Given the description of an element on the screen output the (x, y) to click on. 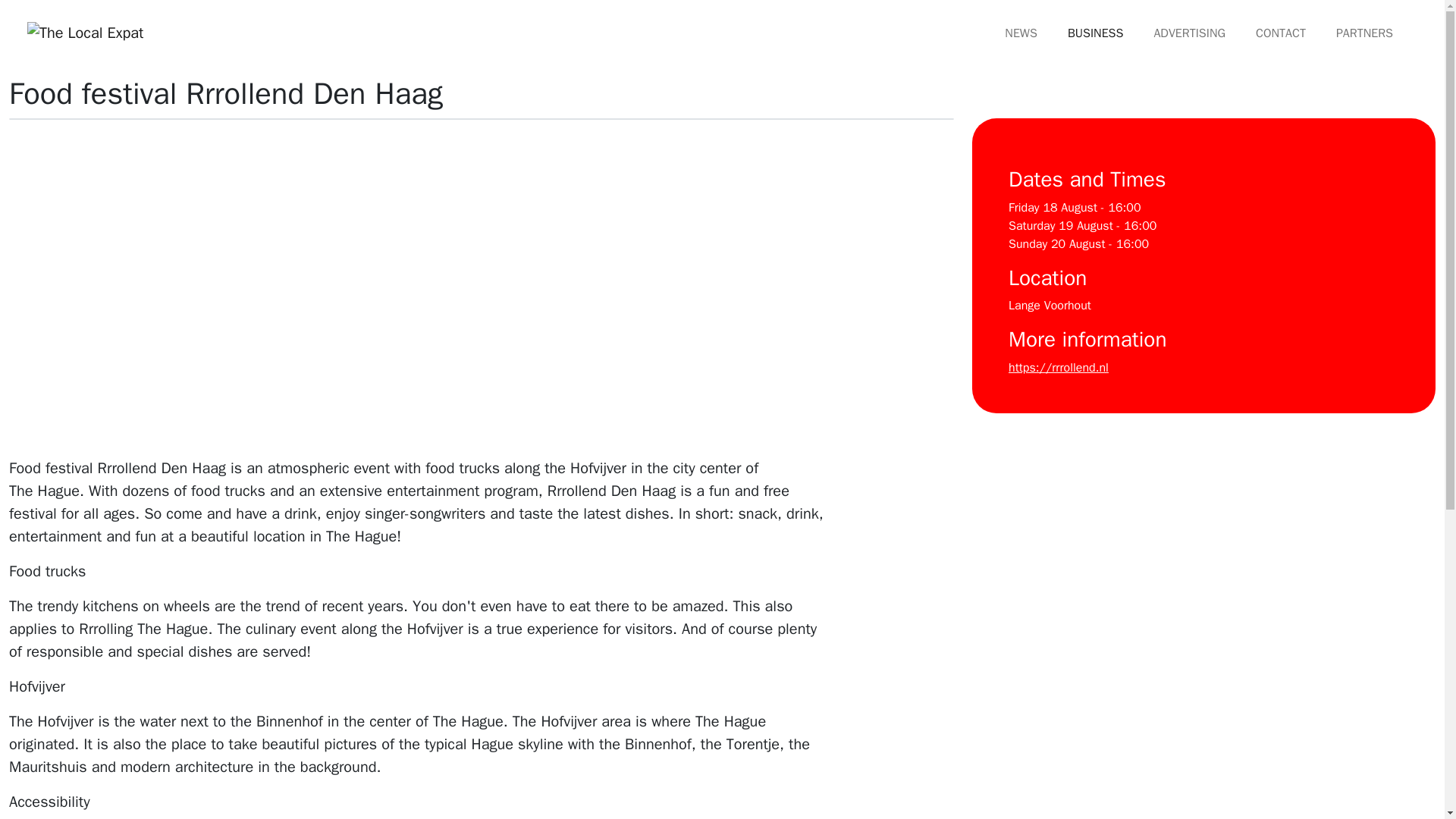
NEWS (1020, 33)
PARTNERS (1364, 33)
BUSINESS (1095, 33)
CONTACT (1280, 33)
ADVERTISING (1189, 33)
